Given the description of an element on the screen output the (x, y) to click on. 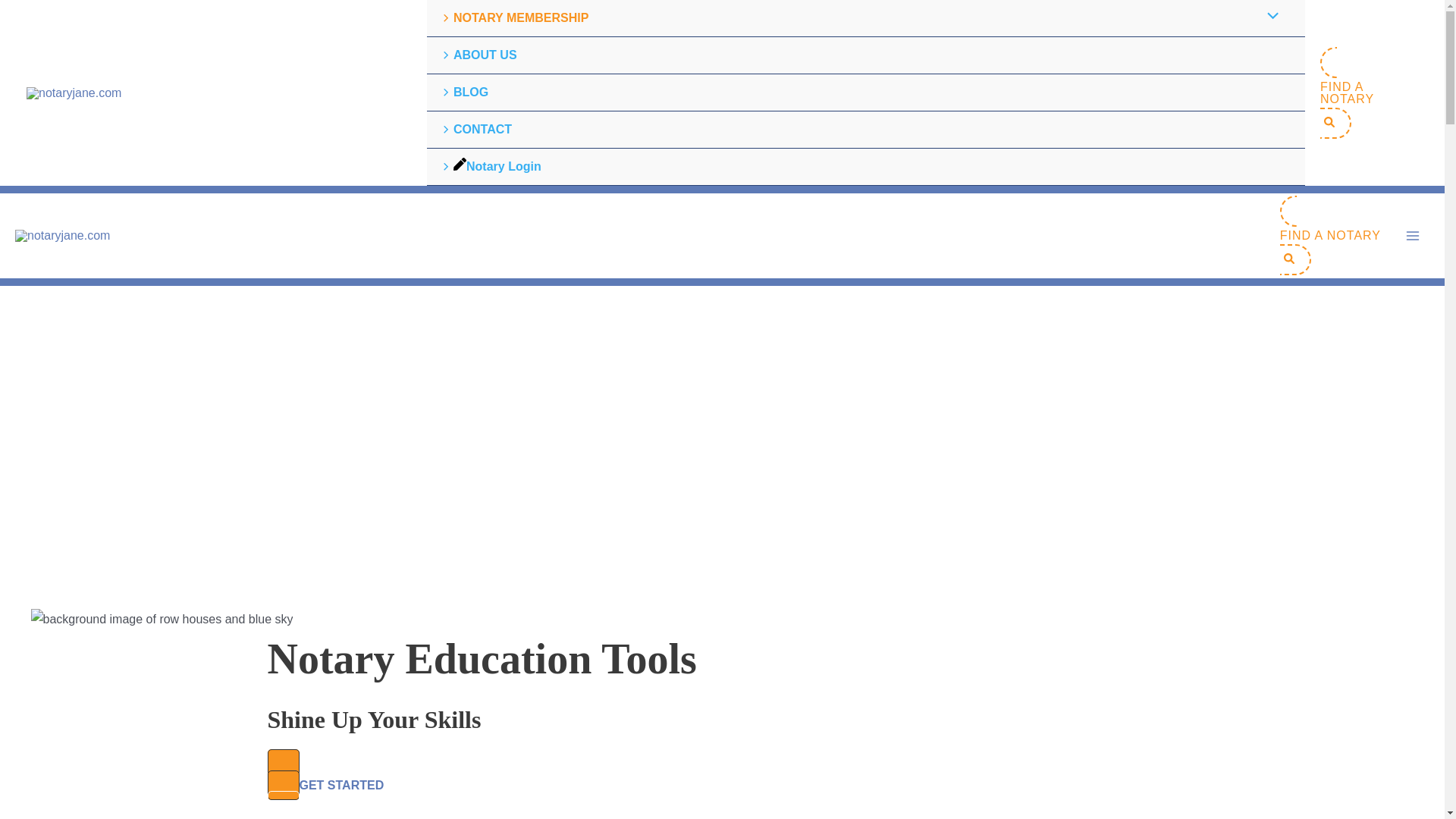
FIND A NOTARY (1365, 92)
CONTACT (865, 129)
Notary Login (865, 166)
ABOUT US (865, 55)
FIND A NOTARY (1329, 235)
NOTARY MEMBERSHIP (865, 18)
BLOG (865, 92)
MAIN MENU (1412, 235)
